Given the description of an element on the screen output the (x, y) to click on. 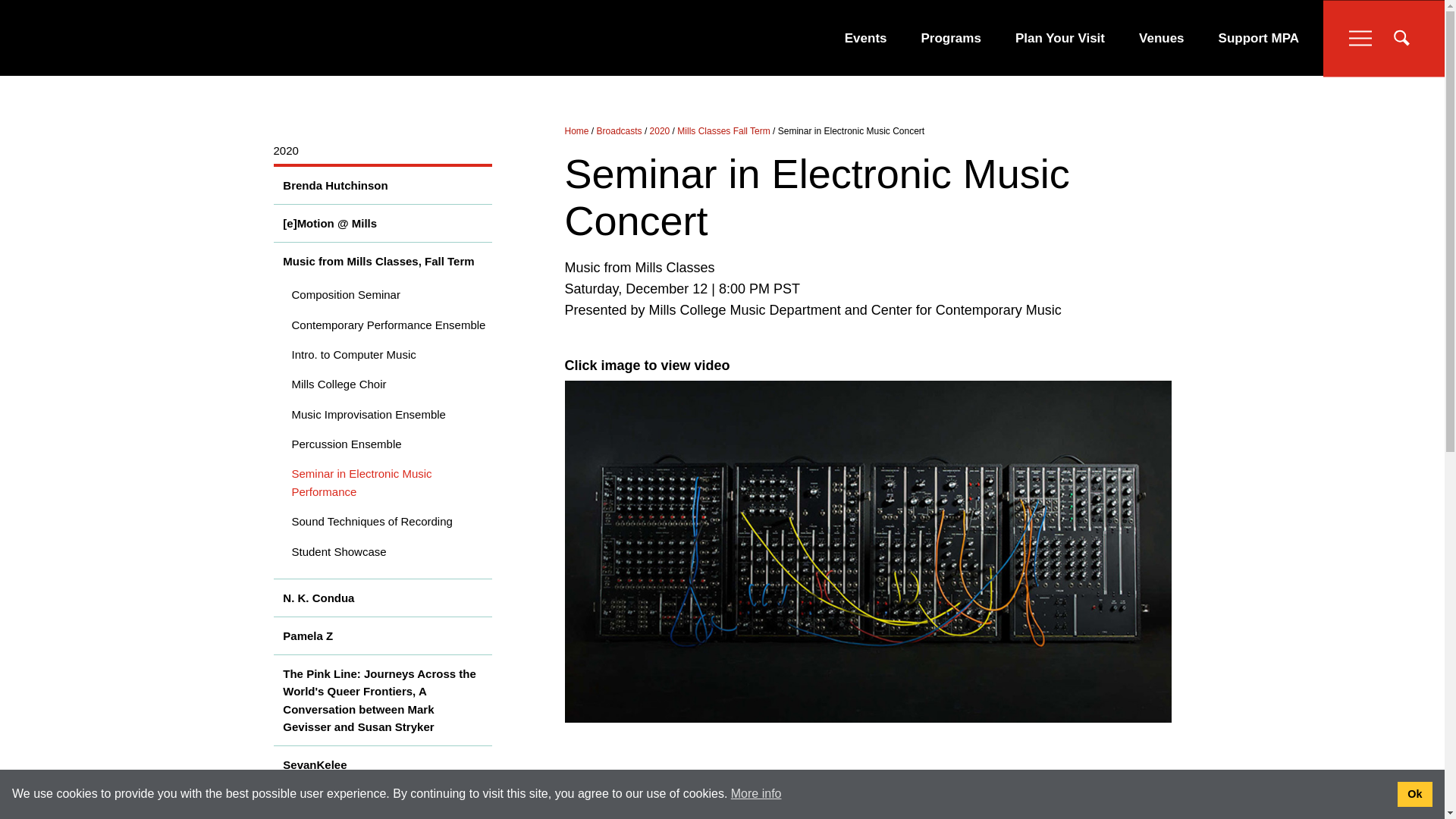
toggle search (1401, 37)
Composition Seminar (382, 294)
N. K. Condua (382, 597)
toggle menu (1360, 37)
Home (576, 131)
Sound Techniques of Recording (382, 521)
Events (865, 38)
Music Improvisation Ensemble (382, 414)
Mills College Choir (382, 383)
Venues (1161, 38)
